Given the description of an element on the screen output the (x, y) to click on. 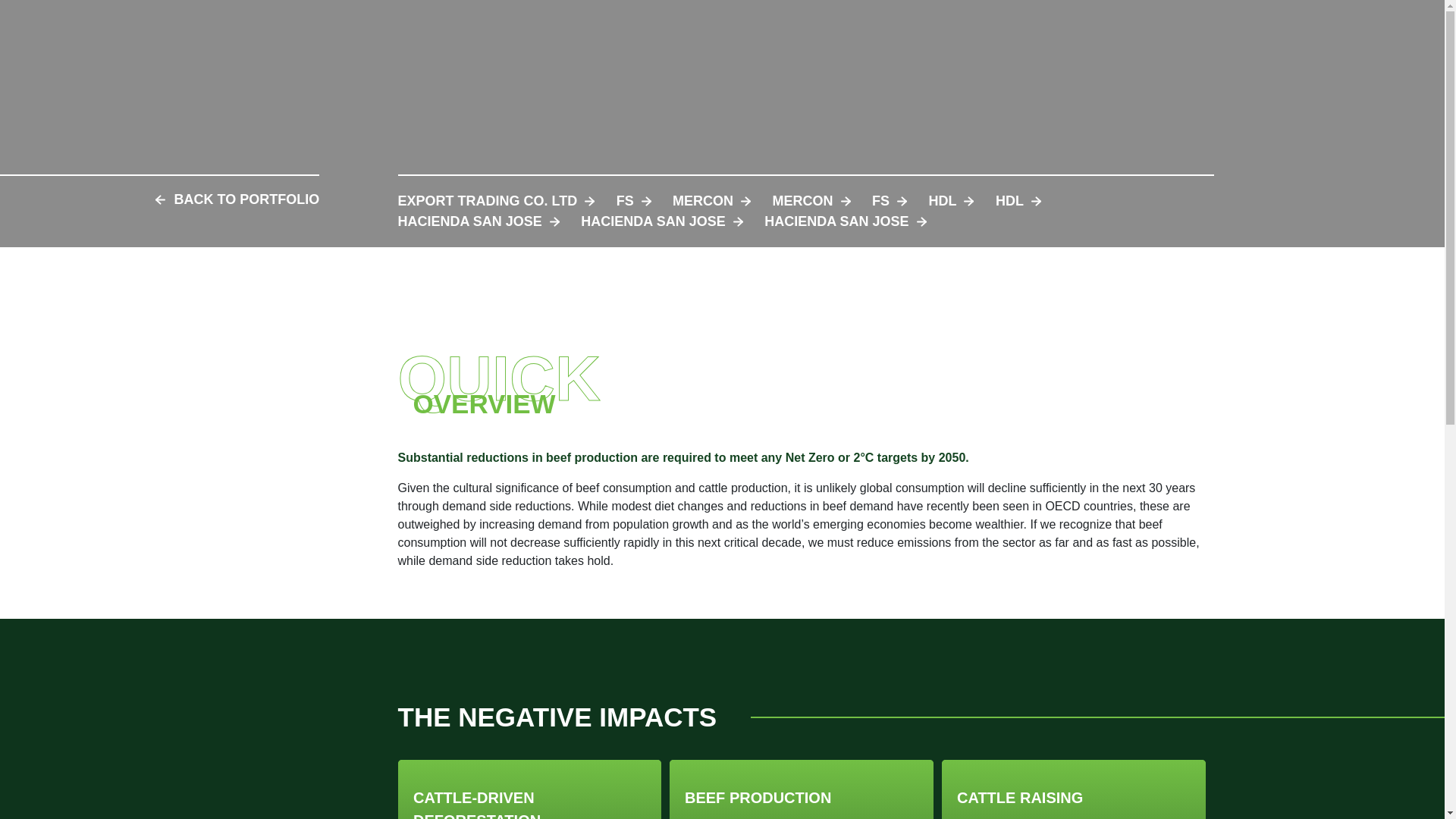
FS (889, 200)
FS (632, 200)
MERCON (711, 200)
HACIENDA SAN JOSE (478, 221)
EXPORT TRADING CO. LTD (496, 200)
MERCON (811, 200)
BACK TO PORTFOLIO (234, 199)
HDL (1018, 200)
HACIENDA SAN JOSE (661, 221)
HDL (951, 200)
